Given the description of an element on the screen output the (x, y) to click on. 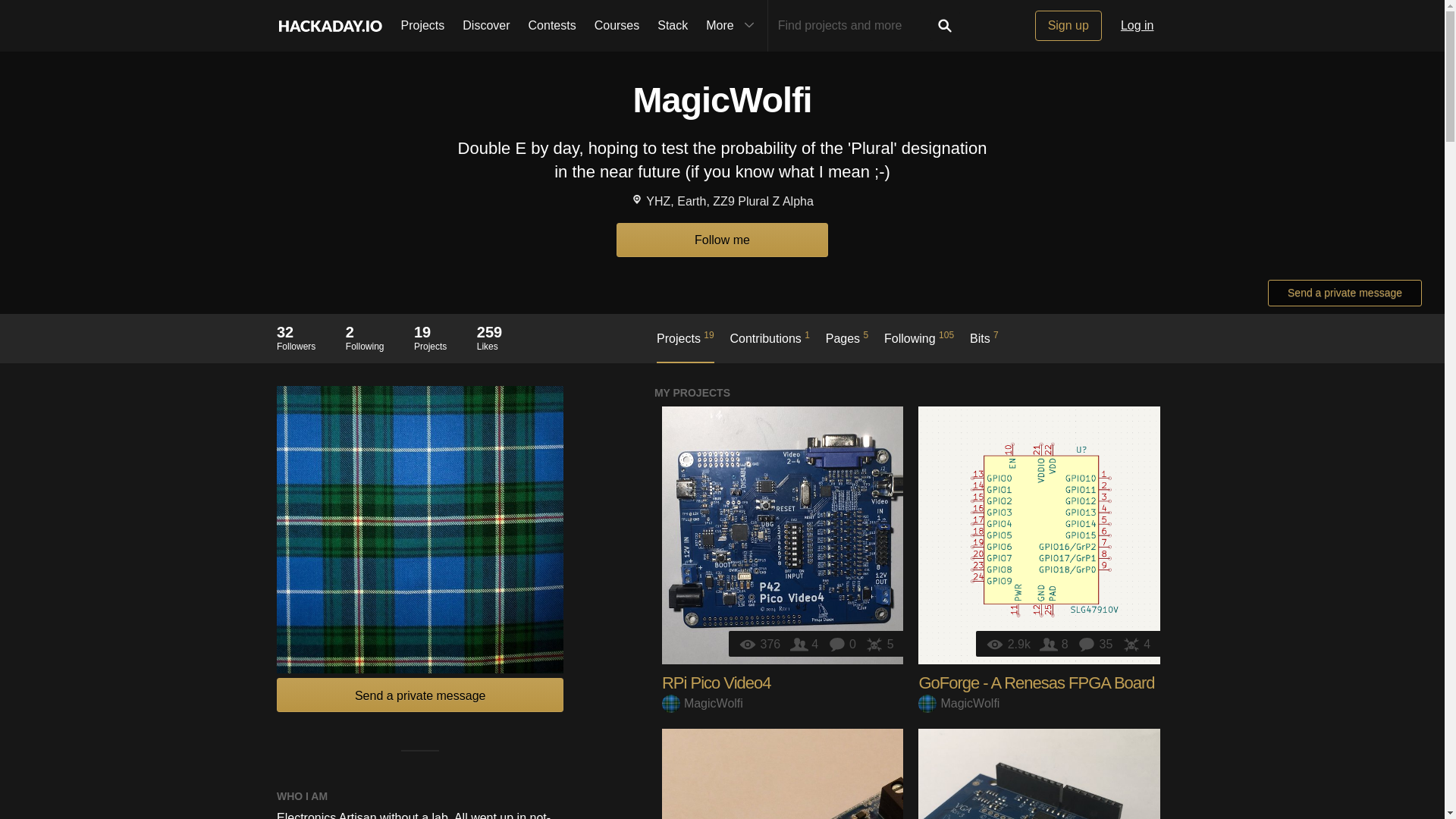
USB-C Power Delivery Sink - CYPD3177 by MagicWolfi (783, 773)
Following 105 (918, 345)
Pages 5 (847, 345)
Search (944, 25)
Discover (365, 336)
Contests (485, 25)
Projects 19 (295, 336)
Likes (552, 25)
Send a private message (685, 346)
Followers (878, 644)
Log in (419, 694)
GoForge - A Renesas FPGA Board by MagicWolfi (1055, 644)
Hackaday.io (1137, 25)
